Given the description of an element on the screen output the (x, y) to click on. 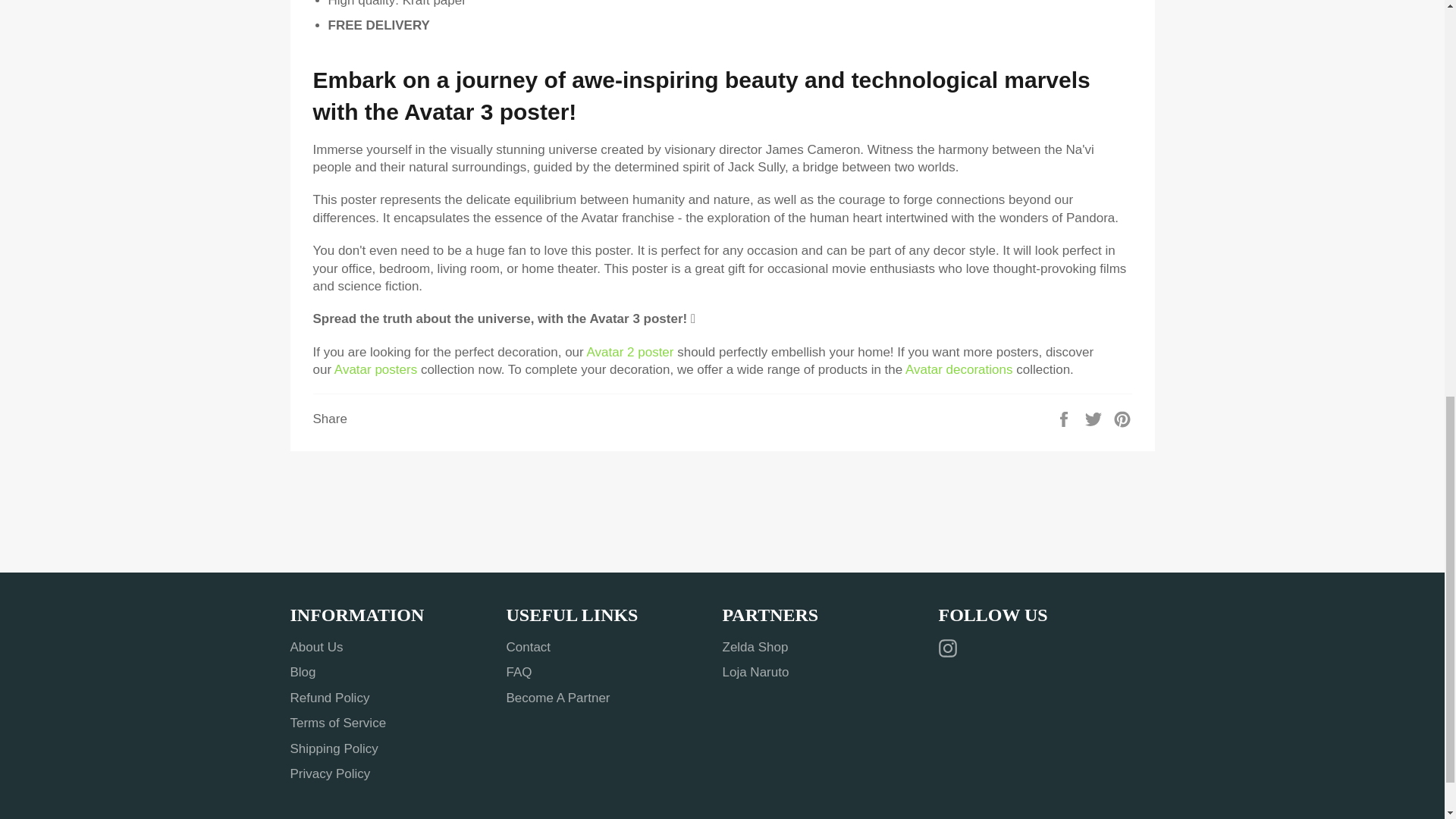
Refund Policy (329, 698)
About Us (315, 646)
avatar posters (375, 369)
Zelda Shop (754, 646)
avatar decorations (958, 369)
Loja Naruto (755, 672)
Blog (302, 672)
Privacy Policy (329, 773)
Avatar decorations (958, 369)
Avatar 2 Poster (630, 351)
